Given the description of an element on the screen output the (x, y) to click on. 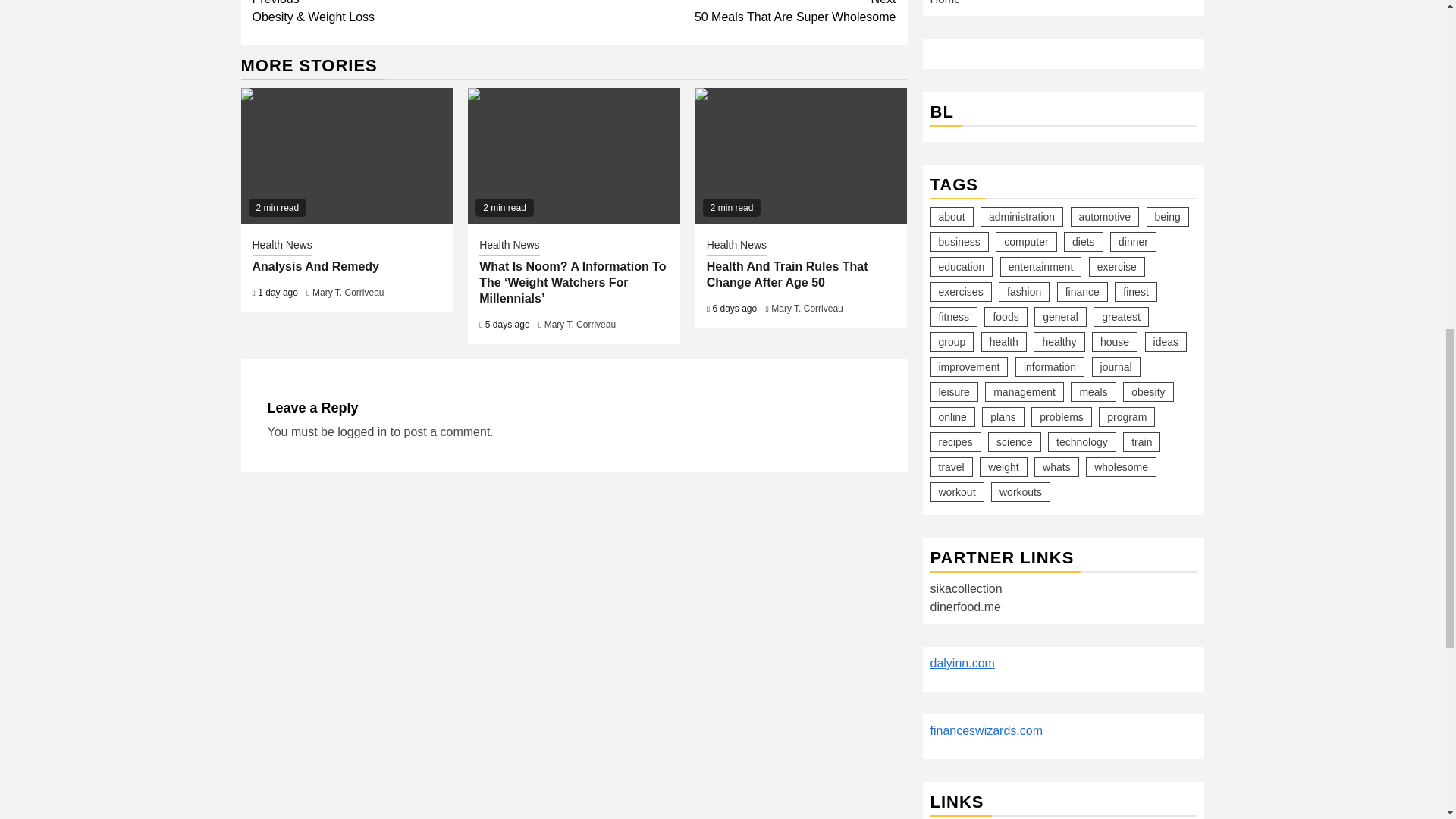
Health And Train Rules That Change After Age 50 (801, 155)
Analysis And Remedy (314, 266)
Health News (736, 246)
Mary T. Corriveau (348, 292)
Mary T. Corriveau (579, 324)
Analysis And Remedy (346, 155)
Mary T. Corriveau (807, 308)
Health News (734, 13)
Health And Train Rules That Change After Age 50 (508, 246)
